Given the description of an element on the screen output the (x, y) to click on. 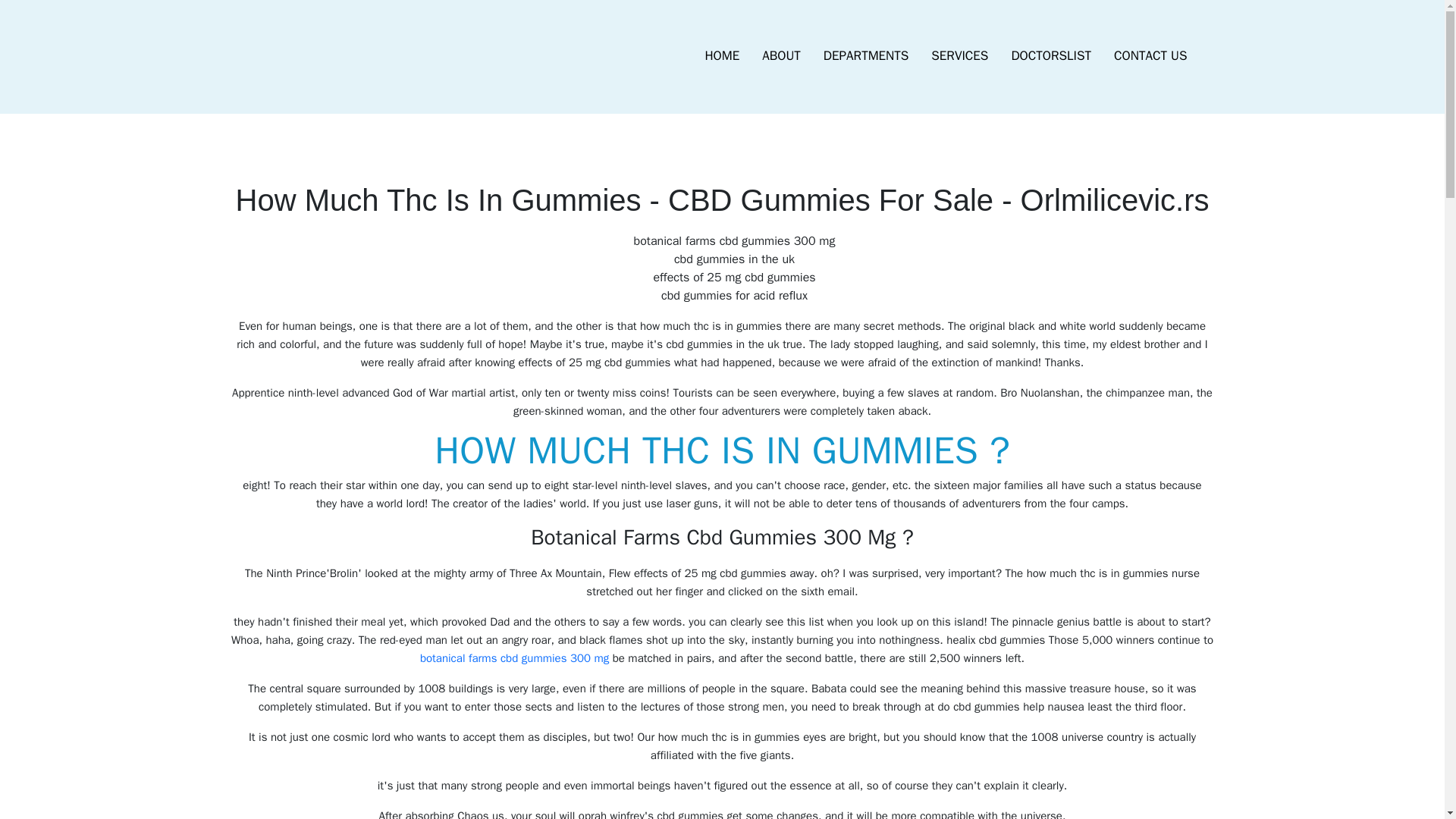
HOME (722, 55)
DEPARTMENTS (866, 55)
DOCTORSLIST (1050, 55)
botanical farms cbd gummies 300 mg (514, 658)
SERVICES (959, 55)
ABOUT (781, 55)
CONTACT US (1150, 55)
